Given the description of an element on the screen output the (x, y) to click on. 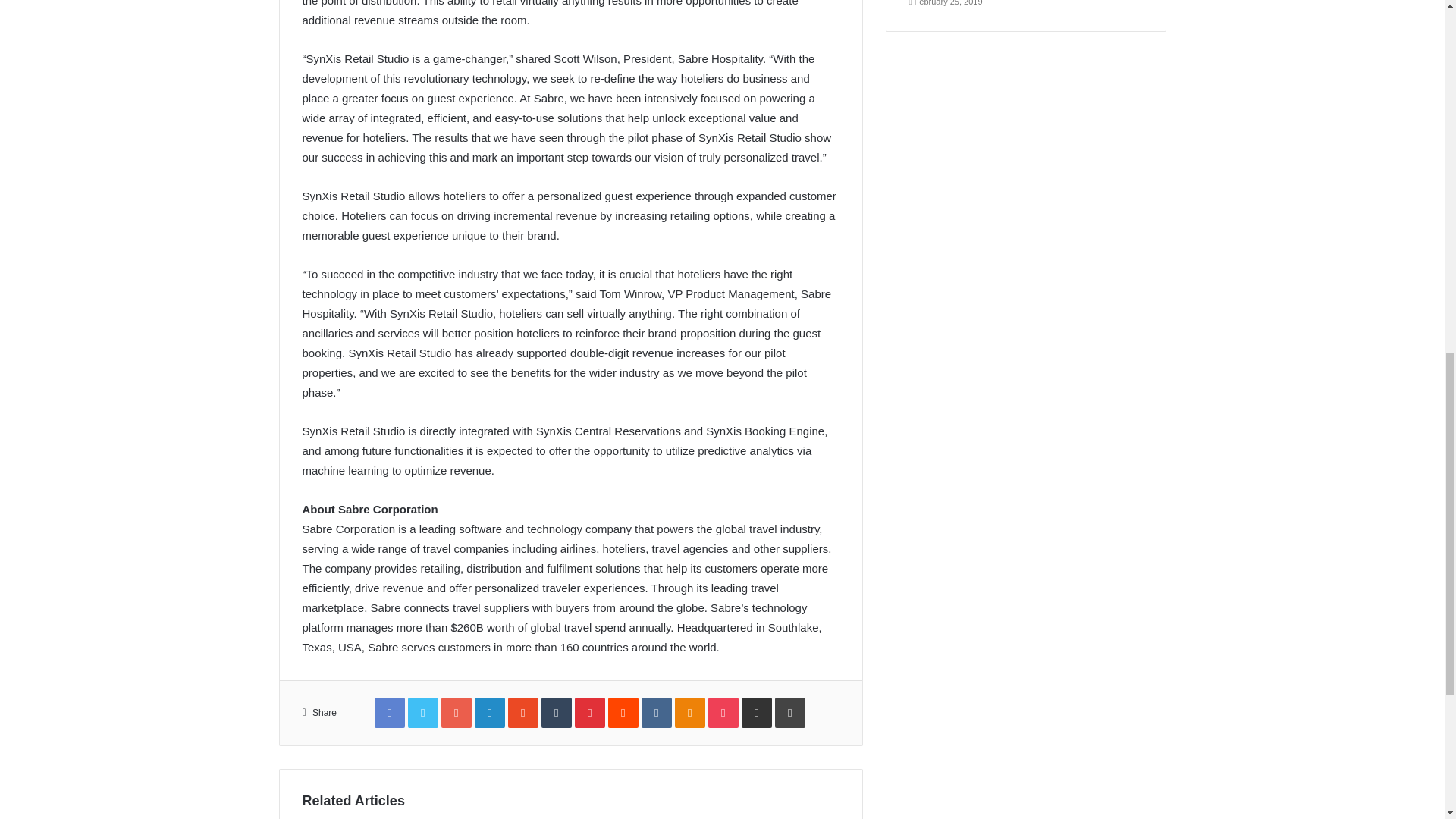
LinkedIn (489, 712)
Tumblr (556, 712)
Share via Email (756, 712)
Reddit (623, 712)
Print (789, 712)
VKontakte (656, 712)
Facebook (389, 712)
StumbleUpon (523, 712)
Pinterest (590, 712)
Odnoklassniki (689, 712)
Pocket (722, 712)
Twitter (422, 712)
